Given the description of an element on the screen output the (x, y) to click on. 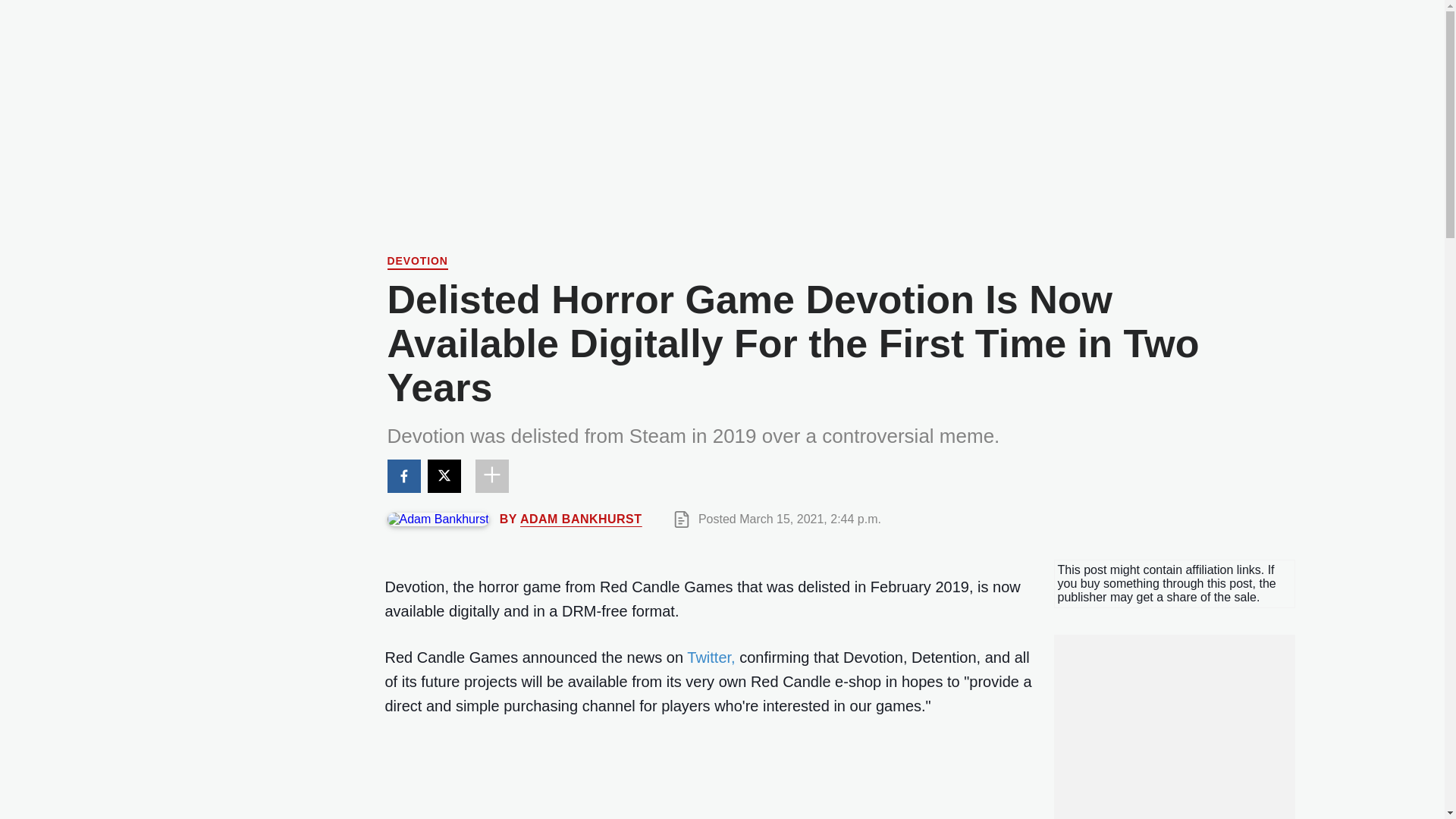
Devotion (416, 262)
DEVOTION (416, 262)
ADAM BANKHURST (580, 518)
